Given the description of an element on the screen output the (x, y) to click on. 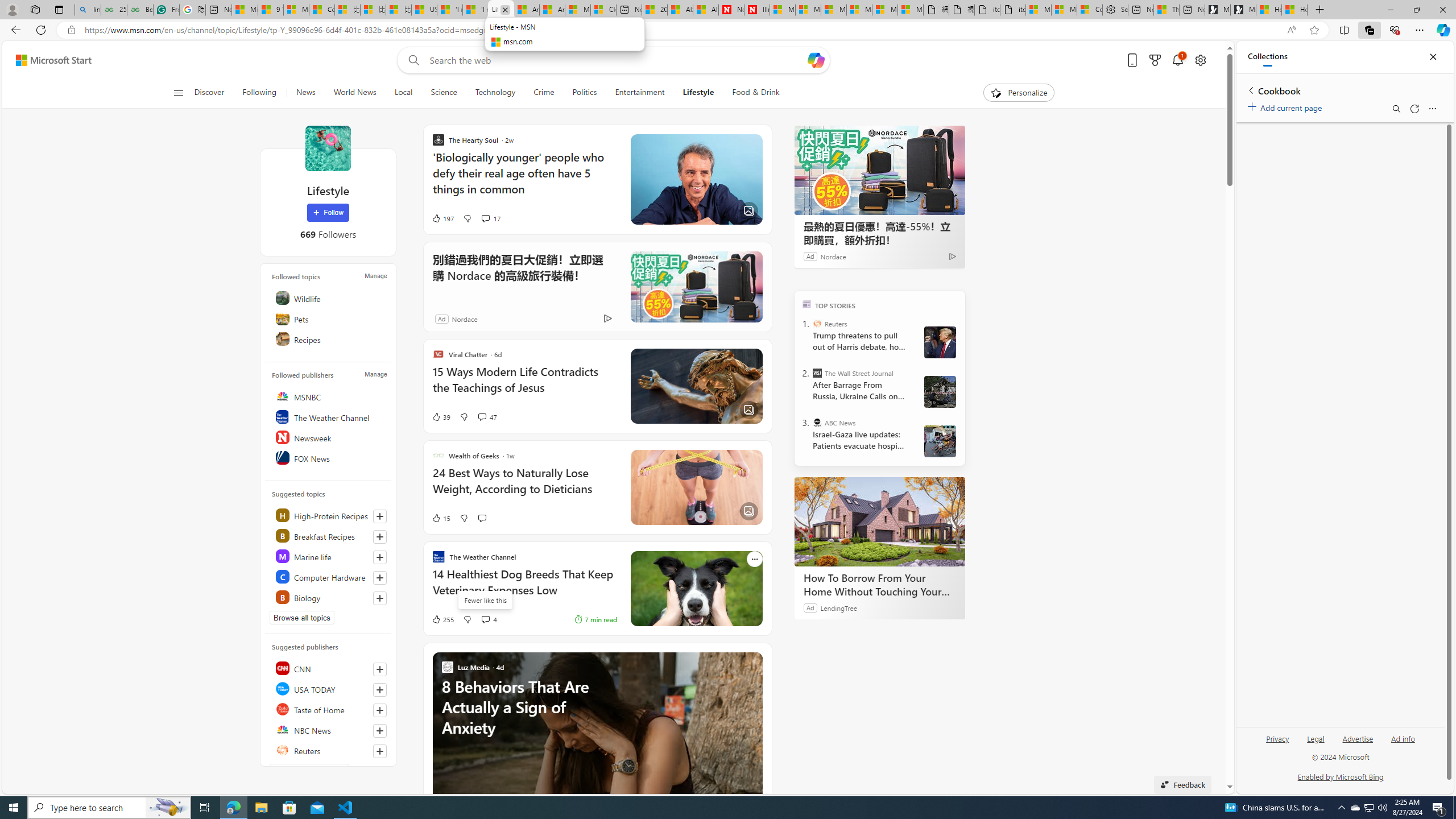
itconcepthk.com/projector_solutions.mp4 (1012, 9)
Follow this source (379, 751)
View comments 47 Comment (487, 416)
Local (403, 92)
Discover (213, 92)
See more (753, 660)
Image Credit: Crystal Cox/Business Insider (696, 179)
Lifestyle (698, 92)
Personalize (1019, 92)
